Given the description of an element on the screen output the (x, y) to click on. 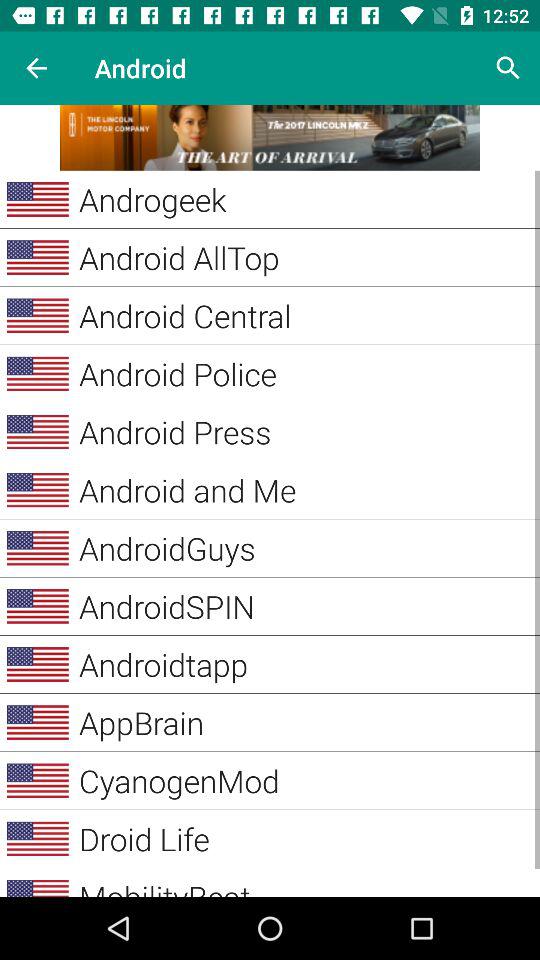
menu finder (270, 137)
